Given the description of an element on the screen output the (x, y) to click on. 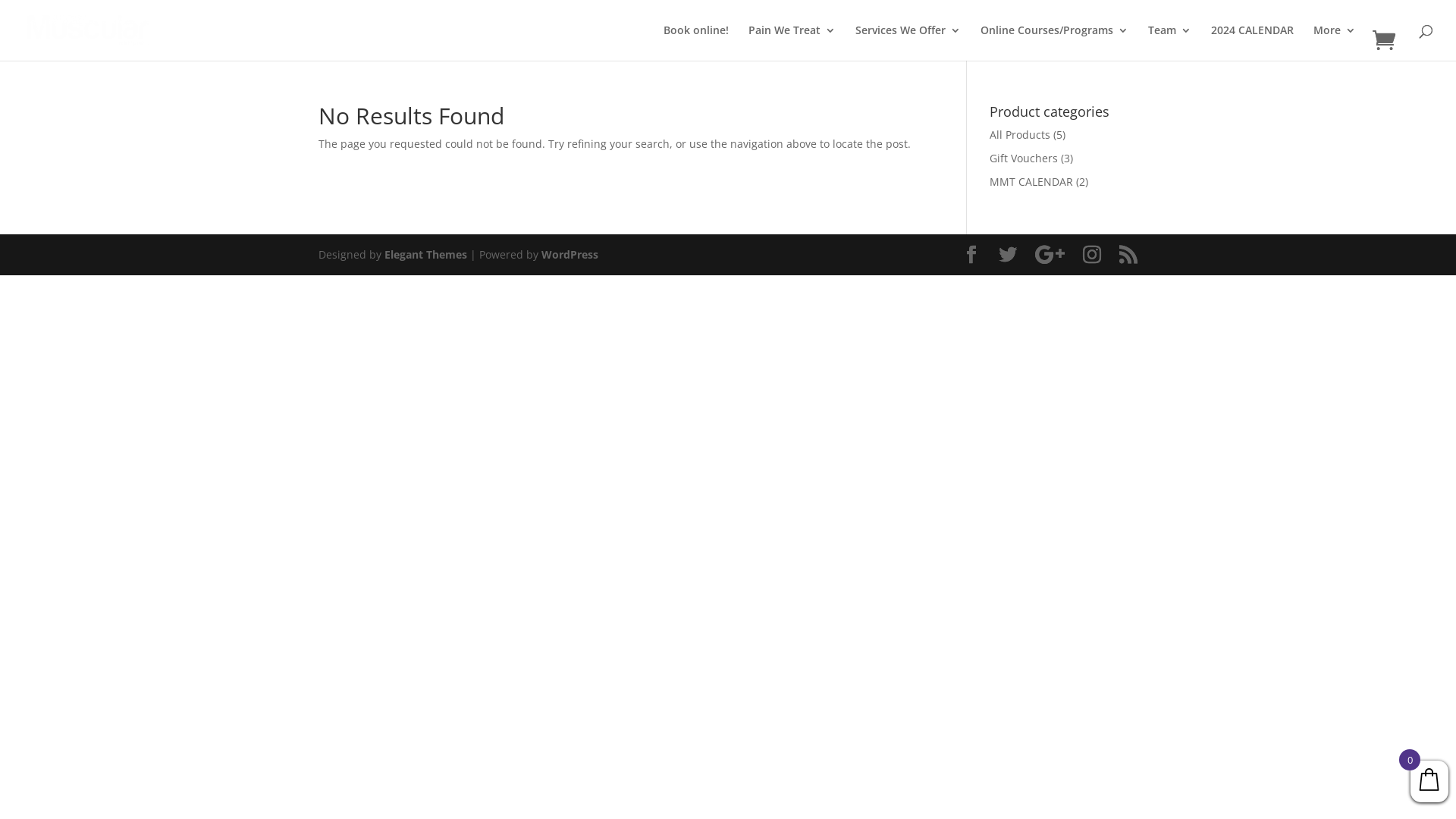
Services We Offer Element type: text (907, 42)
WordPress Element type: text (569, 254)
More Element type: text (1334, 42)
Online Courses/Programs Element type: text (1054, 42)
MMT CALENDAR Element type: text (1031, 181)
Pain We Treat Element type: text (791, 42)
Gift Vouchers Element type: text (1023, 157)
Elegant Themes Element type: text (425, 254)
All Products Element type: text (1019, 134)
Team Element type: text (1169, 42)
Book online! Element type: text (695, 42)
2024 CALENDAR Element type: text (1252, 42)
